Given the description of an element on the screen output the (x, y) to click on. 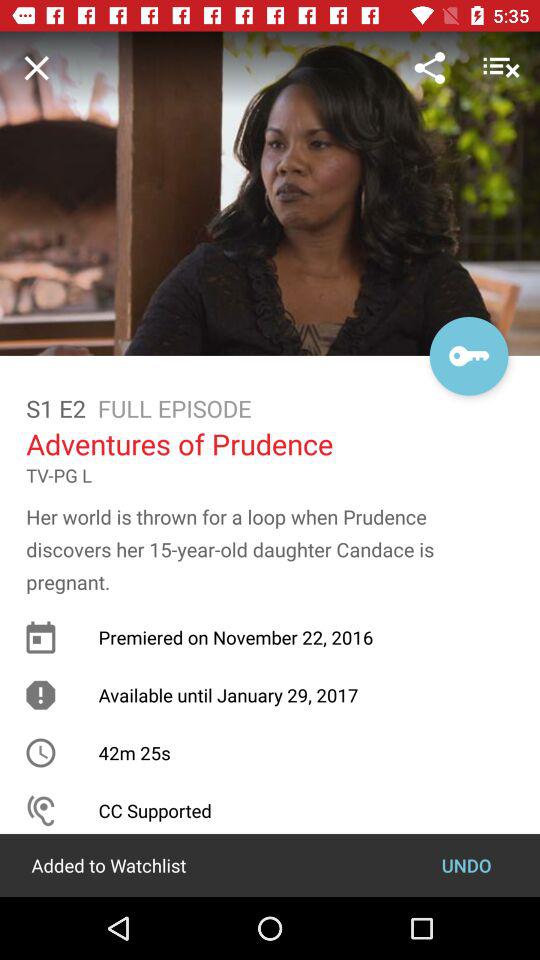
open item at the top left corner (36, 67)
